Given the description of an element on the screen output the (x, y) to click on. 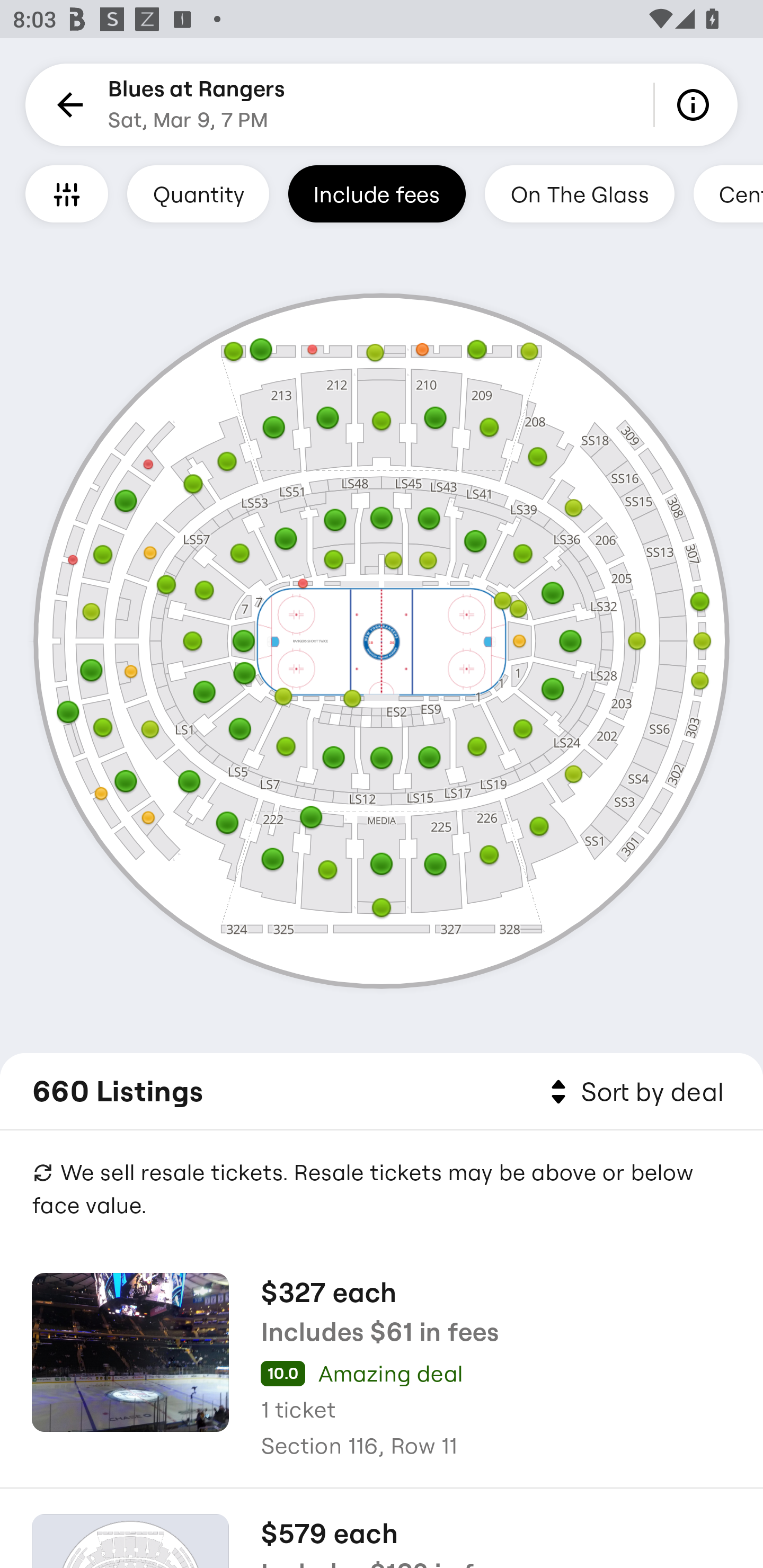
Back (66, 104)
Blues at Rangers Sat, Mar 9, 7 PM (196, 104)
Info (695, 104)
Filters and Accessible Seating (66, 193)
Quantity (198, 193)
Include fees (376, 193)
On The Glass (579, 193)
Sort by deal (633, 1091)
